Given the description of an element on the screen output the (x, y) to click on. 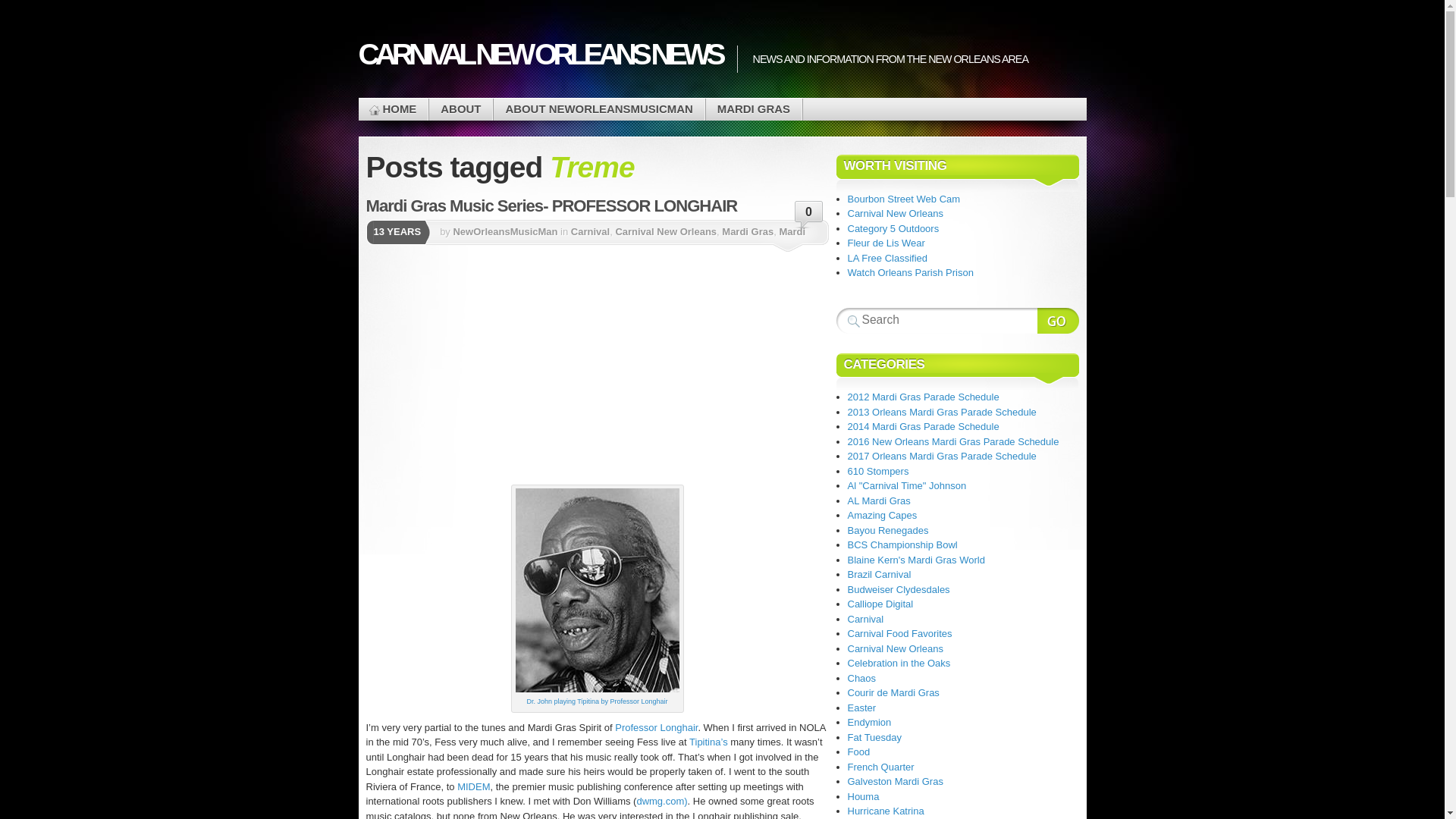
MIDEM (472, 786)
ABOUT NEWORLEANSMUSICMAN (598, 109)
Carnival New Orleans (665, 231)
Professor Longhair (655, 727)
Permalink to Mardi Gras Music Series- PROFESSOR LONGHAIR (550, 205)
Mardi Gras Music Series- PROFESSOR LONGHAIR (550, 205)
Posts by NewOrleansMusicMan (504, 231)
NewOrleansMusicMan (504, 231)
Home Page (393, 109)
dwmg.com (661, 800)
Music (511, 255)
Tipitina's (708, 741)
0 (809, 215)
Professor Longhair (655, 727)
MARDI GRAS (754, 109)
